Given the description of an element on the screen output the (x, y) to click on. 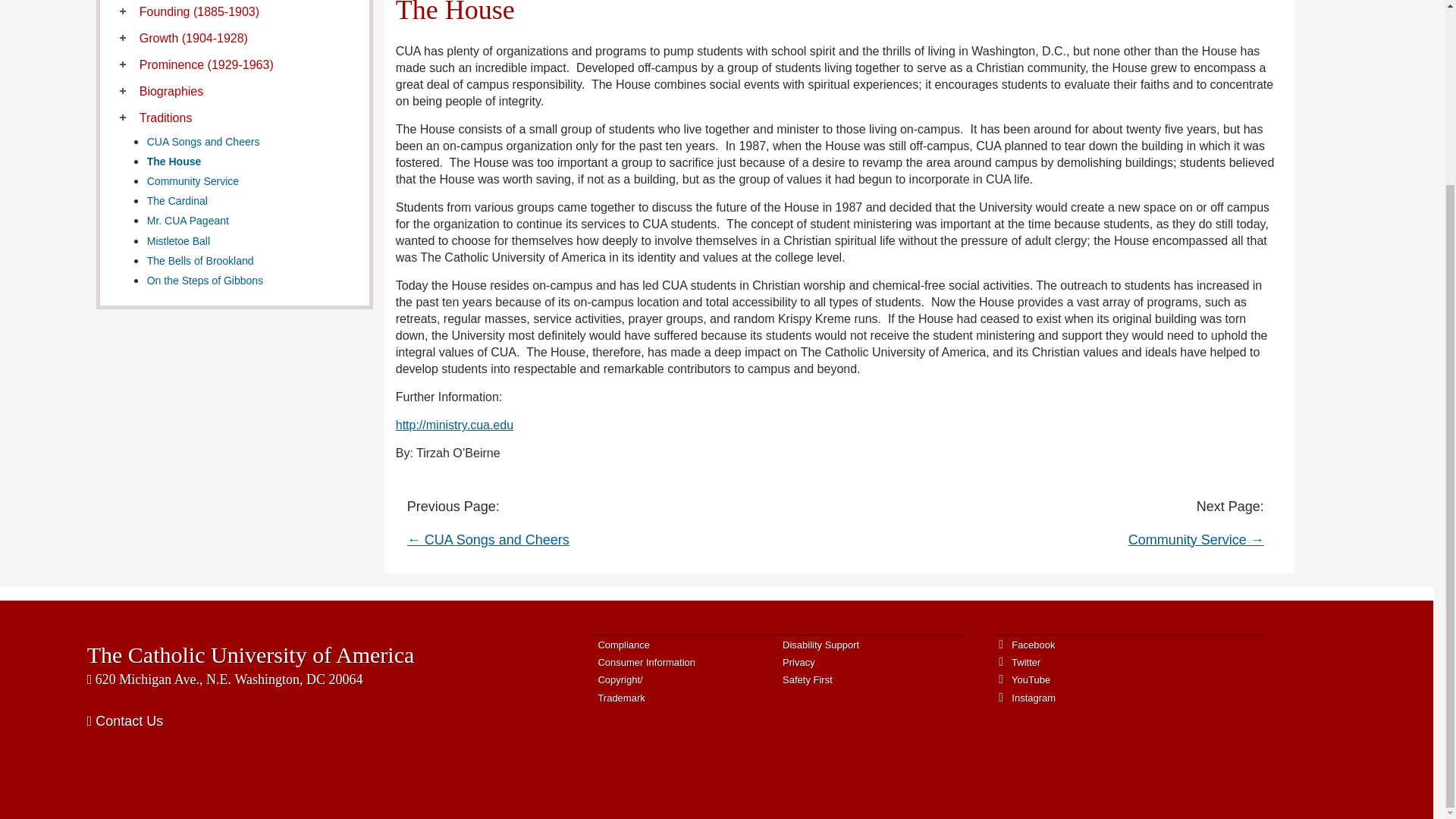
Mr. CUA Pageant (187, 220)
Biographies (171, 91)
The Cardinal (177, 200)
Community Service (192, 181)
CUA Songs and Cheers (203, 141)
On the Steps of Gibbons (205, 280)
Mistletoe Ball (178, 241)
The House (174, 161)
Traditions (165, 117)
The Bells of Brookland (200, 260)
